Given the description of an element on the screen output the (x, y) to click on. 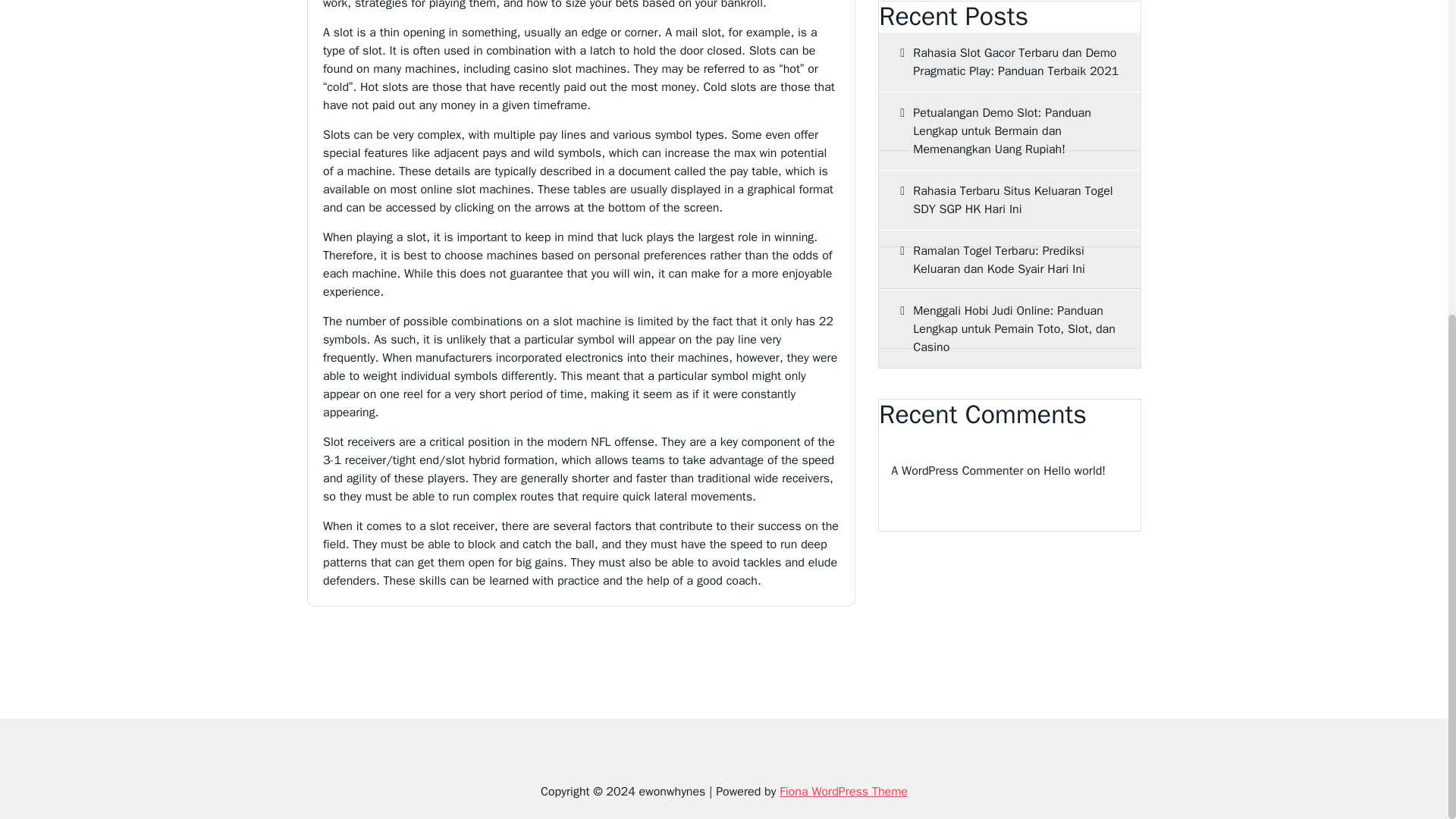
A WordPress Commenter (957, 470)
Rahasia Terbaru Situs Keluaran Togel SDY SGP HK Hari Ini (1009, 200)
Fiona WordPress Theme (842, 791)
Hello world! (1074, 470)
